Given the description of an element on the screen output the (x, y) to click on. 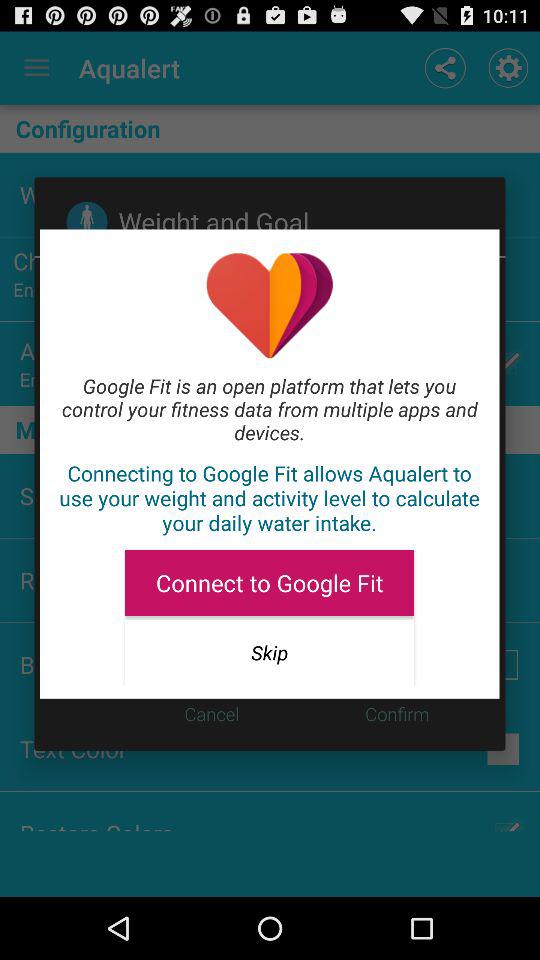
turn on the icon at the bottom (269, 652)
